Given the description of an element on the screen output the (x, y) to click on. 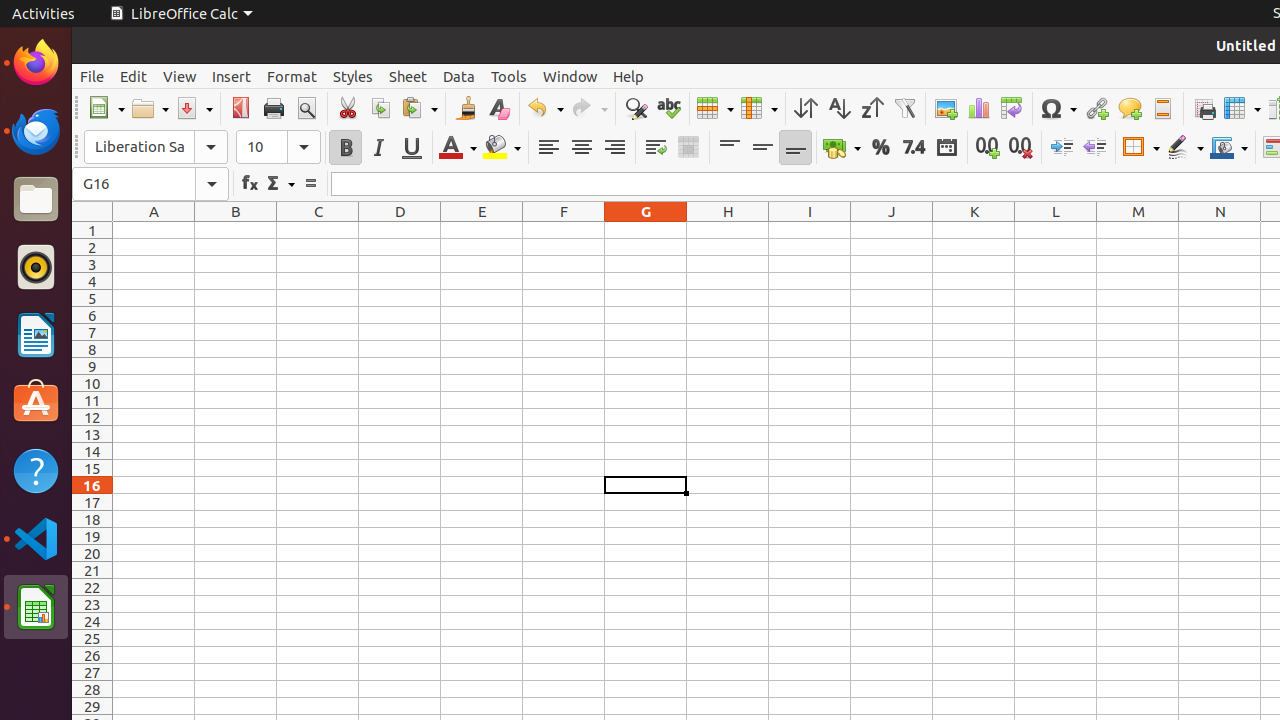
Find & Replace Element type: toggle-button (635, 108)
New Element type: push-button (106, 108)
Align Right Element type: push-button (614, 147)
G1 Element type: table-cell (646, 230)
